Given the description of an element on the screen output the (x, y) to click on. 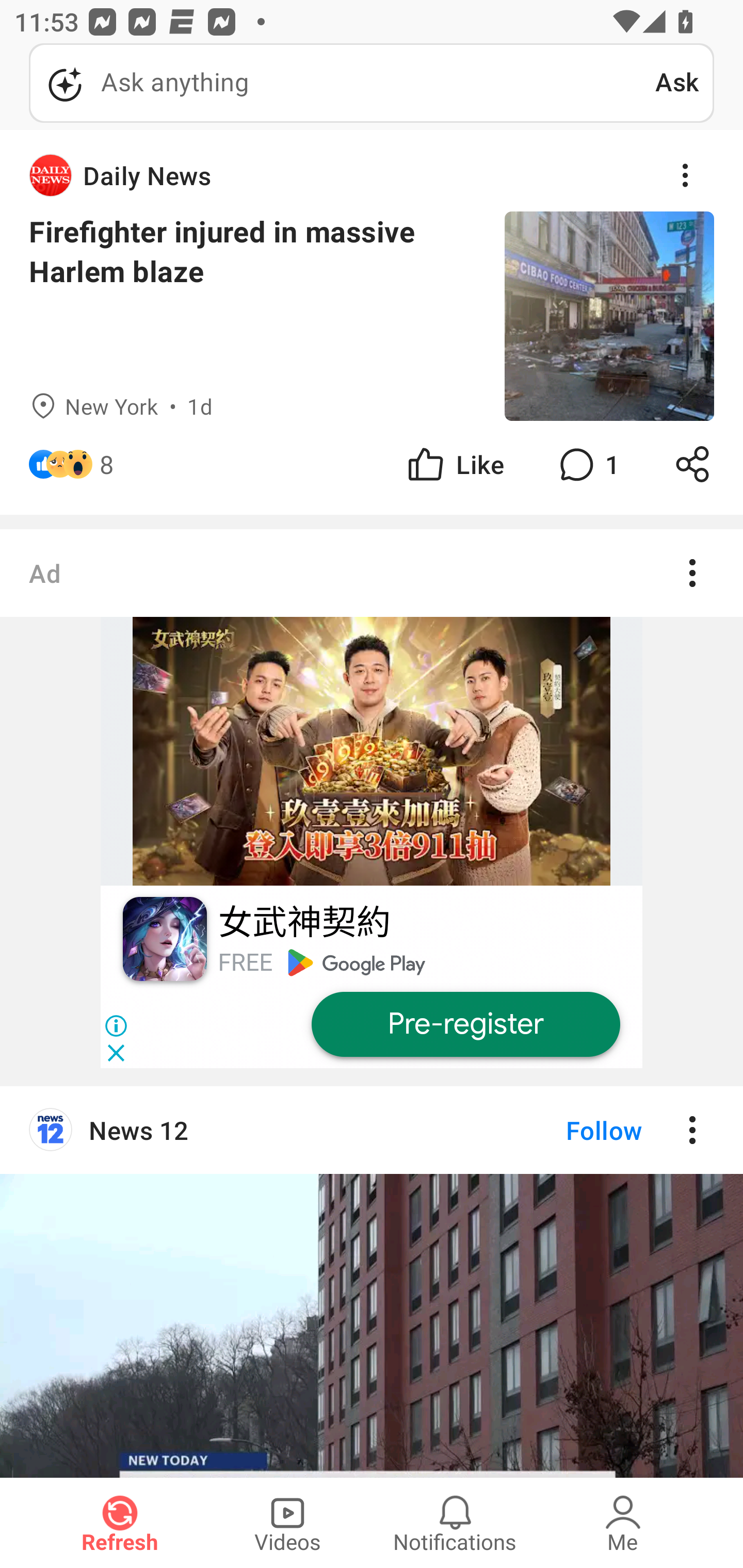
Ask anything (341, 82)
8 (106, 464)
Like (454, 464)
1 (587, 464)
女武神契約 (303, 923)
FREE (245, 962)
Pre-register (464, 1024)
News 12 Follow (371, 1281)
News 12 Follow (371, 1130)
Follow (569, 1130)
Videos (287, 1522)
Notifications (455, 1522)
Me (622, 1522)
